Given the description of an element on the screen output the (x, y) to click on. 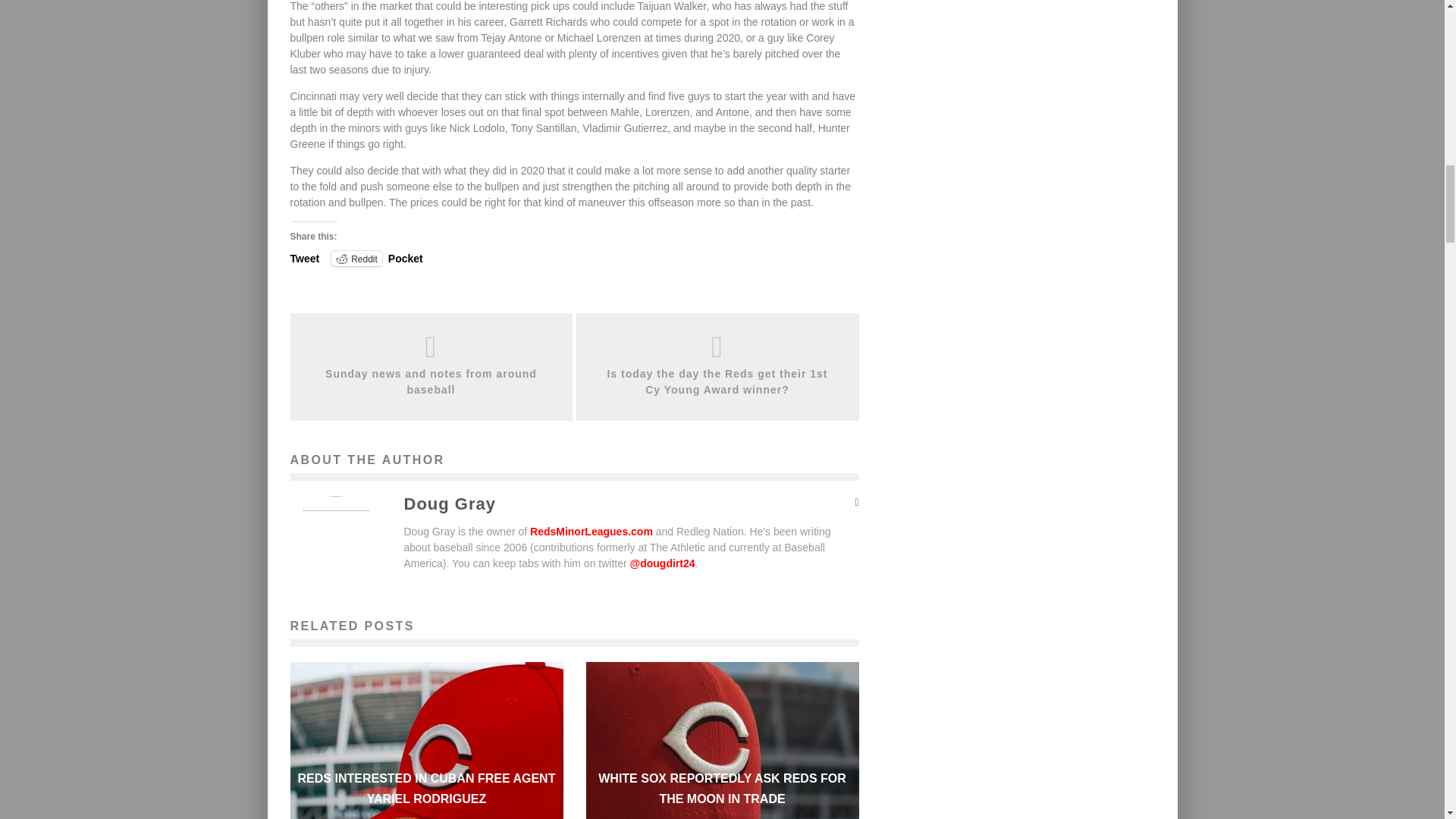
Reddit (356, 258)
Tweet (303, 257)
Click to share on Reddit (356, 258)
